Given the description of an element on the screen output the (x, y) to click on. 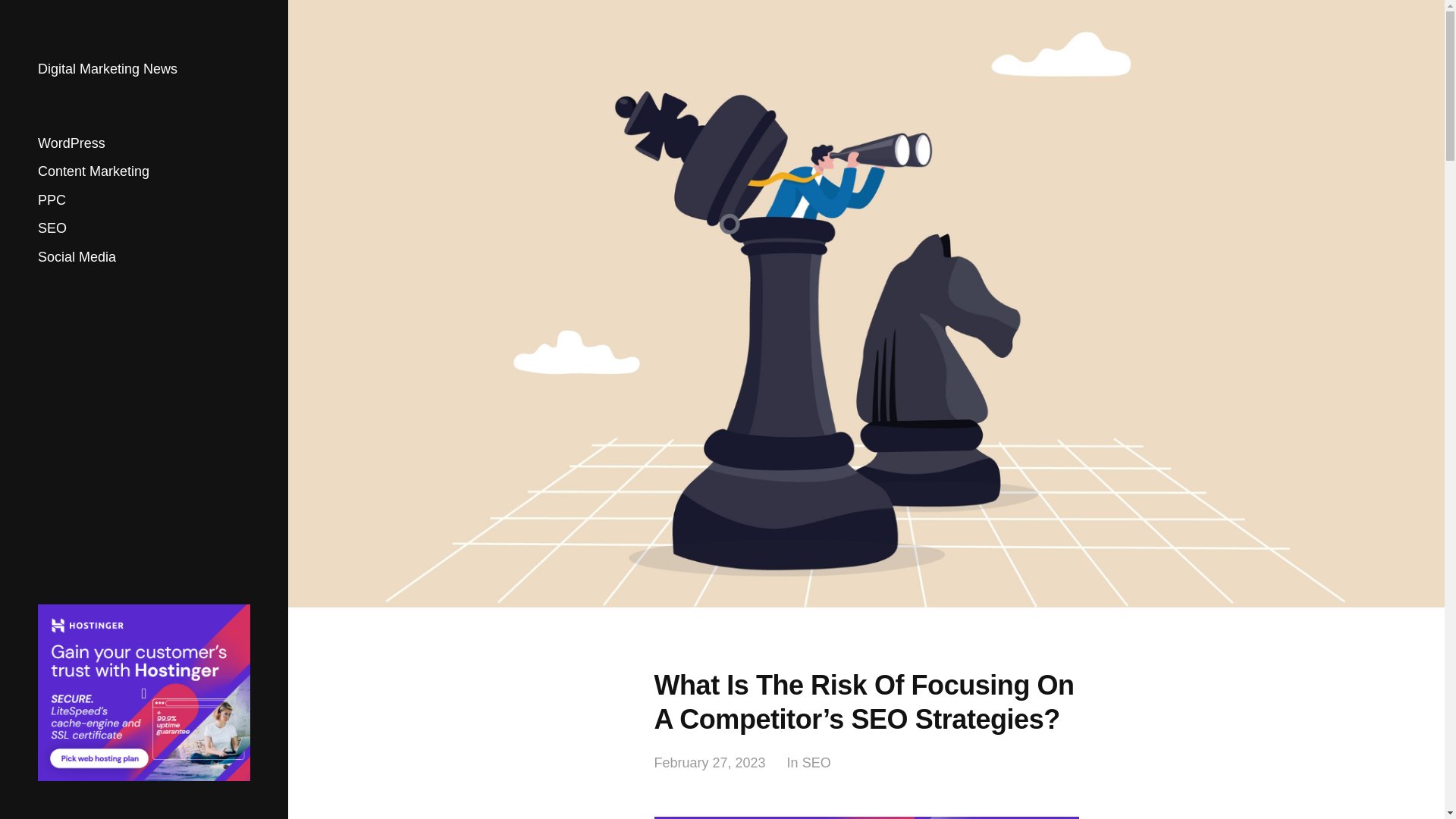
PPC (51, 200)
Content Marketing (93, 171)
SEO (51, 228)
SEO (816, 763)
Social Media (76, 256)
February 27, 2023 (709, 763)
Digital Marketing News (107, 68)
WordPress (70, 142)
